Given the description of an element on the screen output the (x, y) to click on. 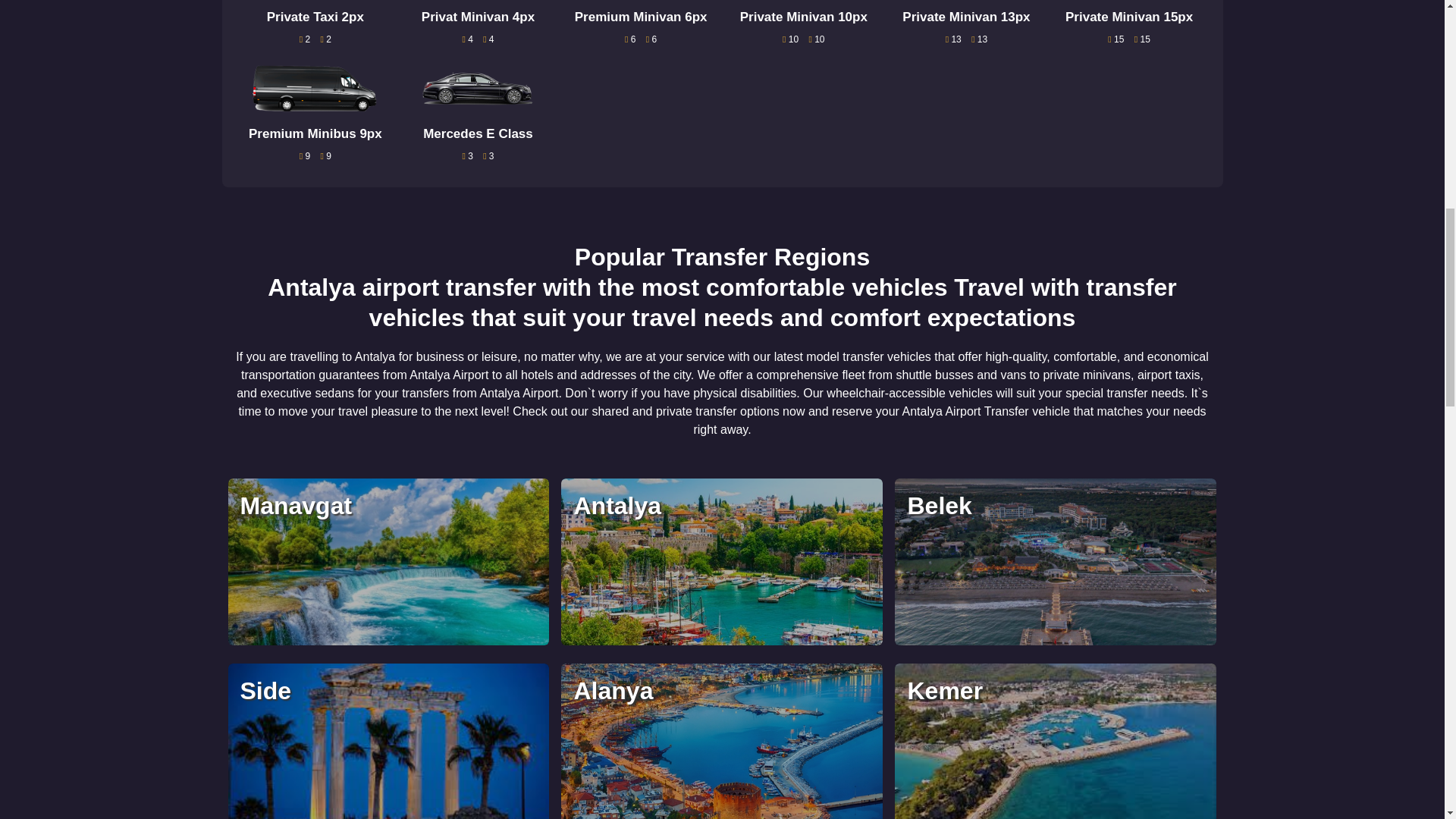
Kemer (1055, 741)
Manavgat (387, 561)
Side (387, 741)
Alanya (721, 741)
Belek (1055, 561)
Antalya (721, 561)
